Given the description of an element on the screen output the (x, y) to click on. 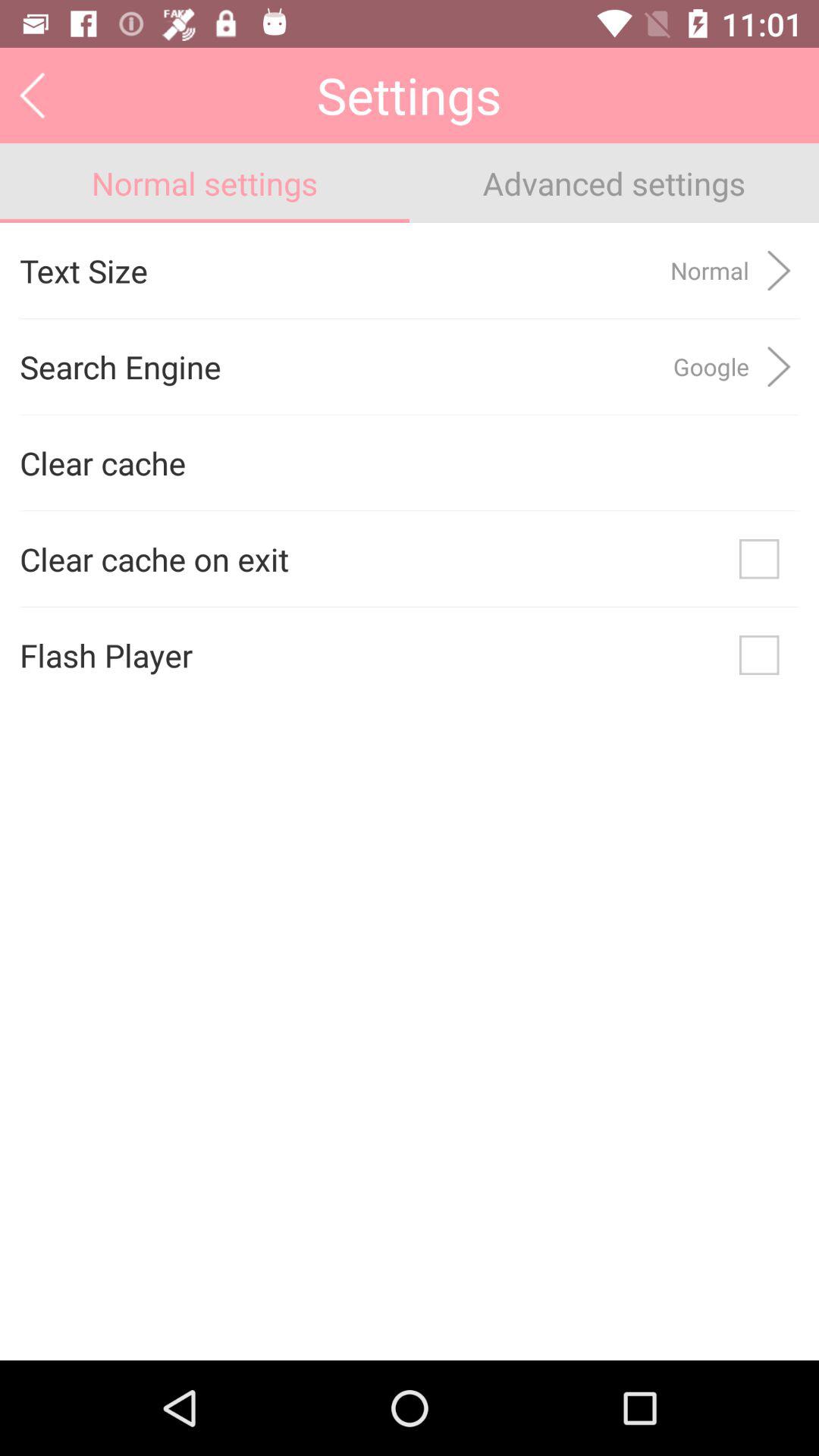
choose option (759, 558)
